Given the description of an element on the screen output the (x, y) to click on. 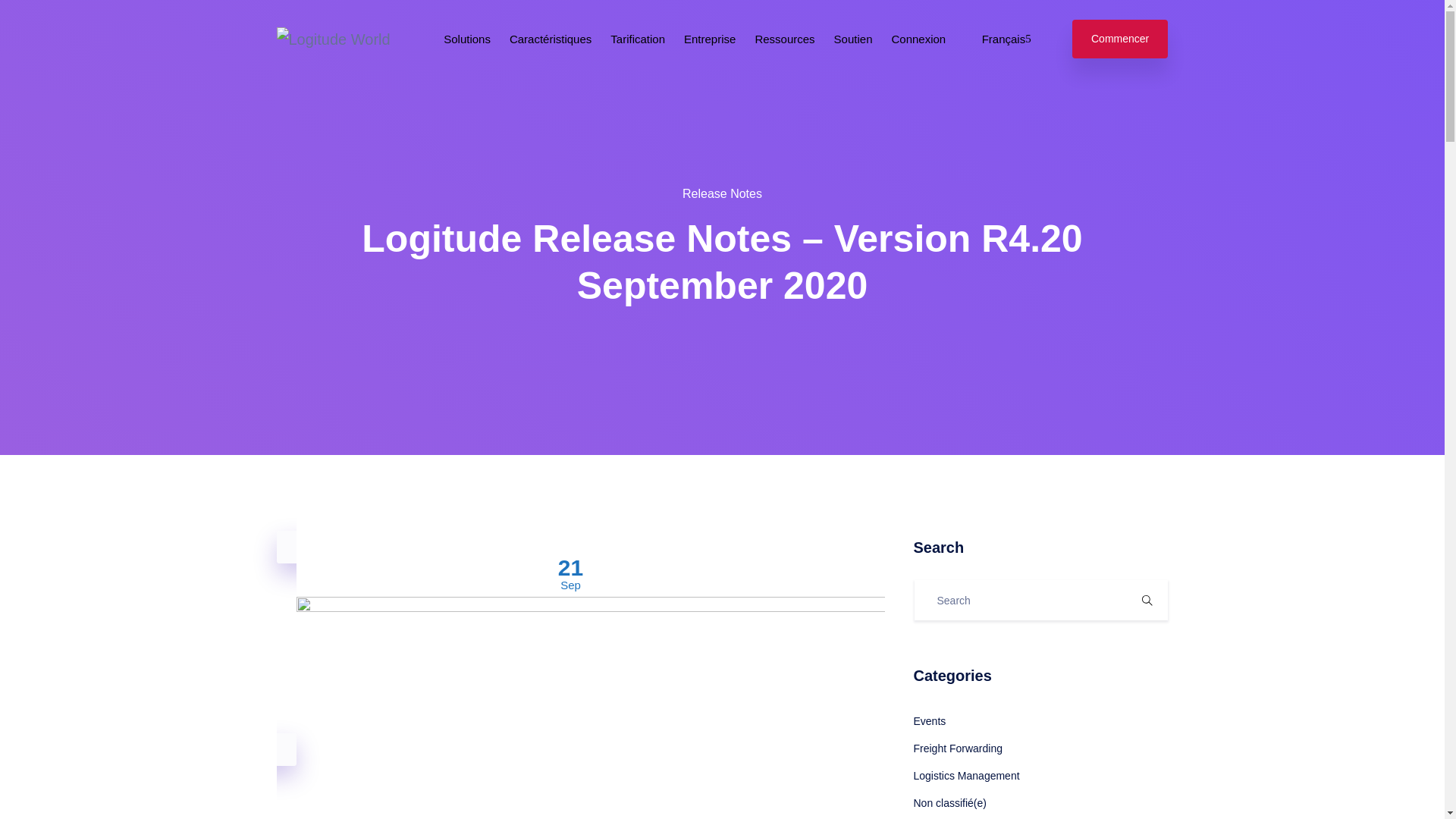
Entreprise (709, 38)
Tarification (637, 38)
Solutions (467, 38)
Ressources (783, 38)
Connexion (917, 38)
Soutien (853, 38)
